Given the description of an element on the screen output the (x, y) to click on. 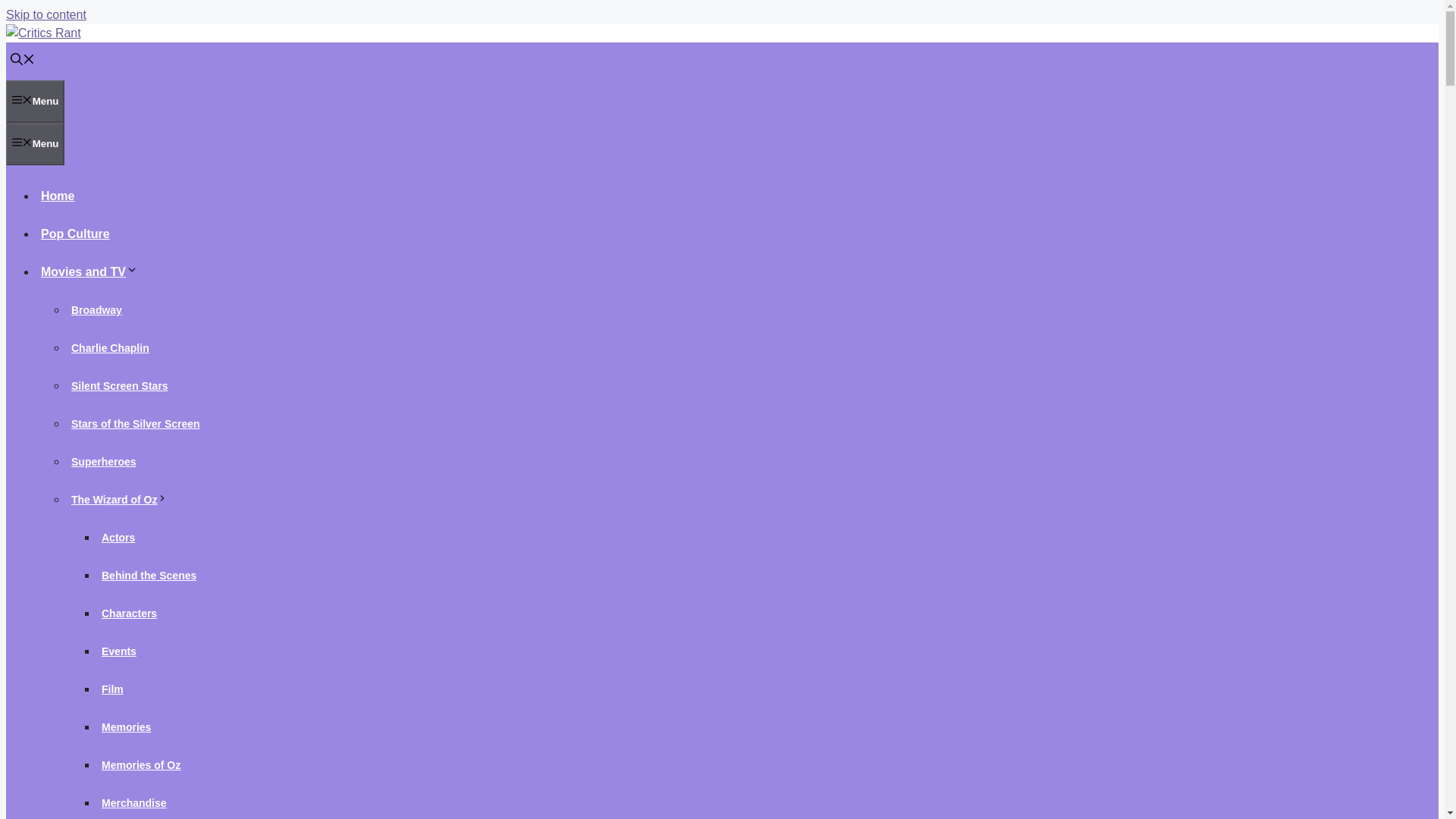
Menu (34, 101)
Pop Culture (75, 233)
Film (112, 688)
Movies and TV (91, 271)
The Wizard of Oz (121, 499)
Superheroes (103, 461)
Broadway (96, 309)
Skip to content (45, 14)
Memories of Oz (140, 764)
Merchandise (134, 802)
